Given the description of an element on the screen output the (x, y) to click on. 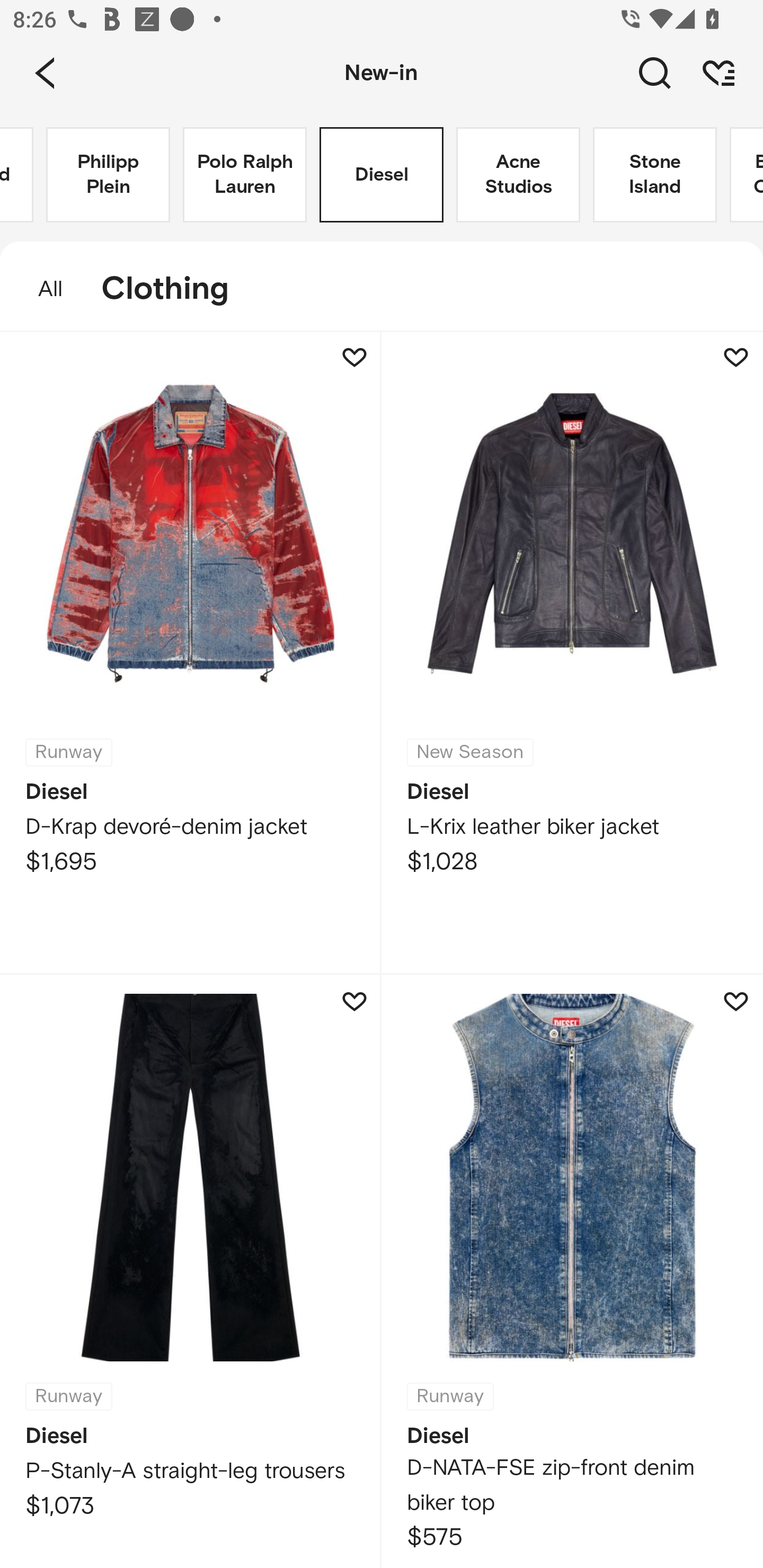
Philipp Plein (107, 174)
Polo Ralph Lauren (244, 174)
Diesel (381, 174)
Acne Studios (517, 174)
Stone Island (654, 174)
All (40, 288)
Clothing (174, 288)
Runway Diesel D-Krap devoré-denim jacket $1,695 (190, 652)
